Given the description of an element on the screen output the (x, y) to click on. 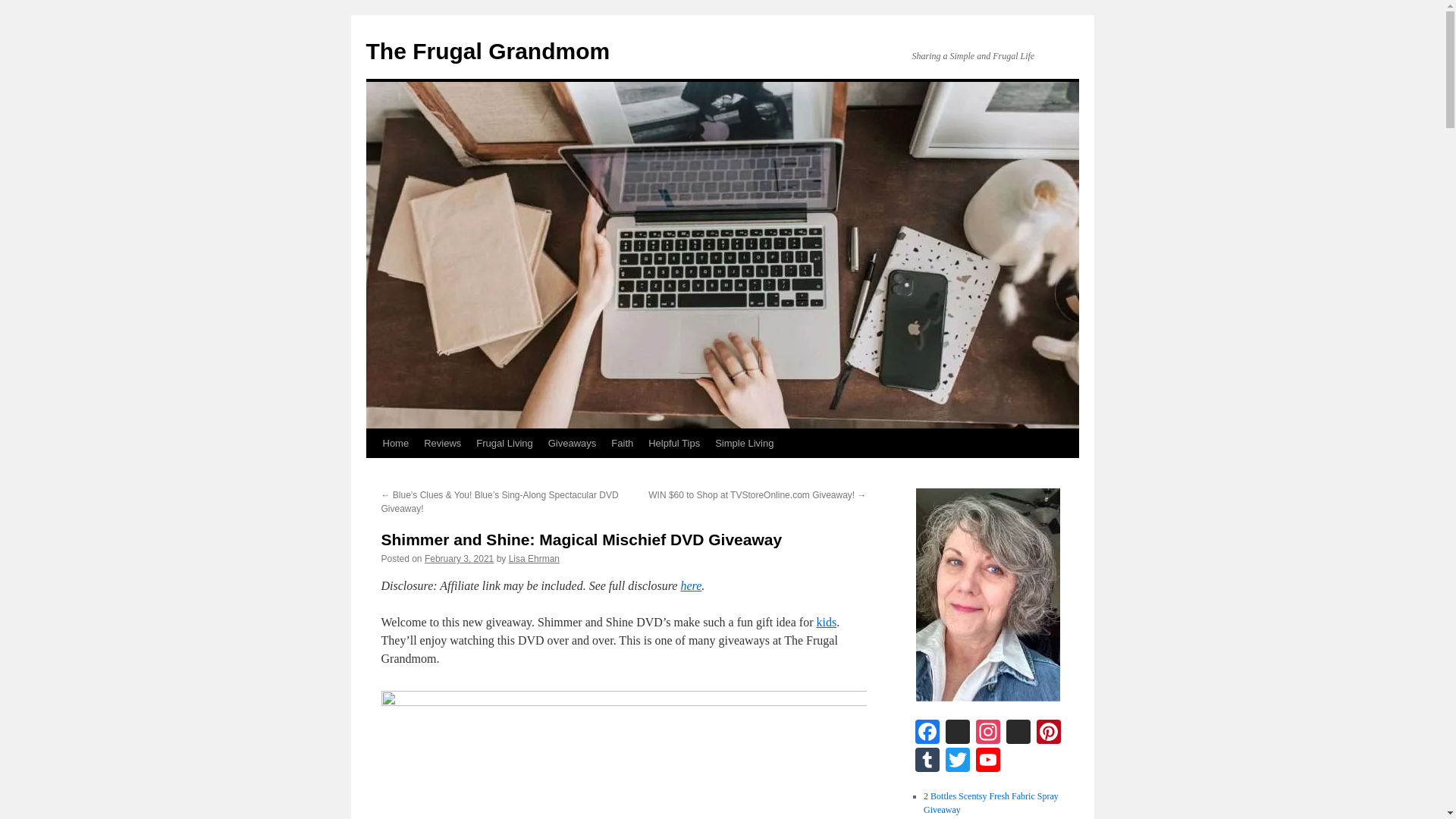
Threads (957, 733)
Pinterest (1047, 733)
Simple Living (743, 443)
Instagram (987, 733)
Faith (622, 443)
Helpful Tips (673, 443)
YouTube (987, 761)
Lisa Ehrman (533, 558)
Facebook (926, 733)
4:33 pm (459, 558)
